Given the description of an element on the screen output the (x, y) to click on. 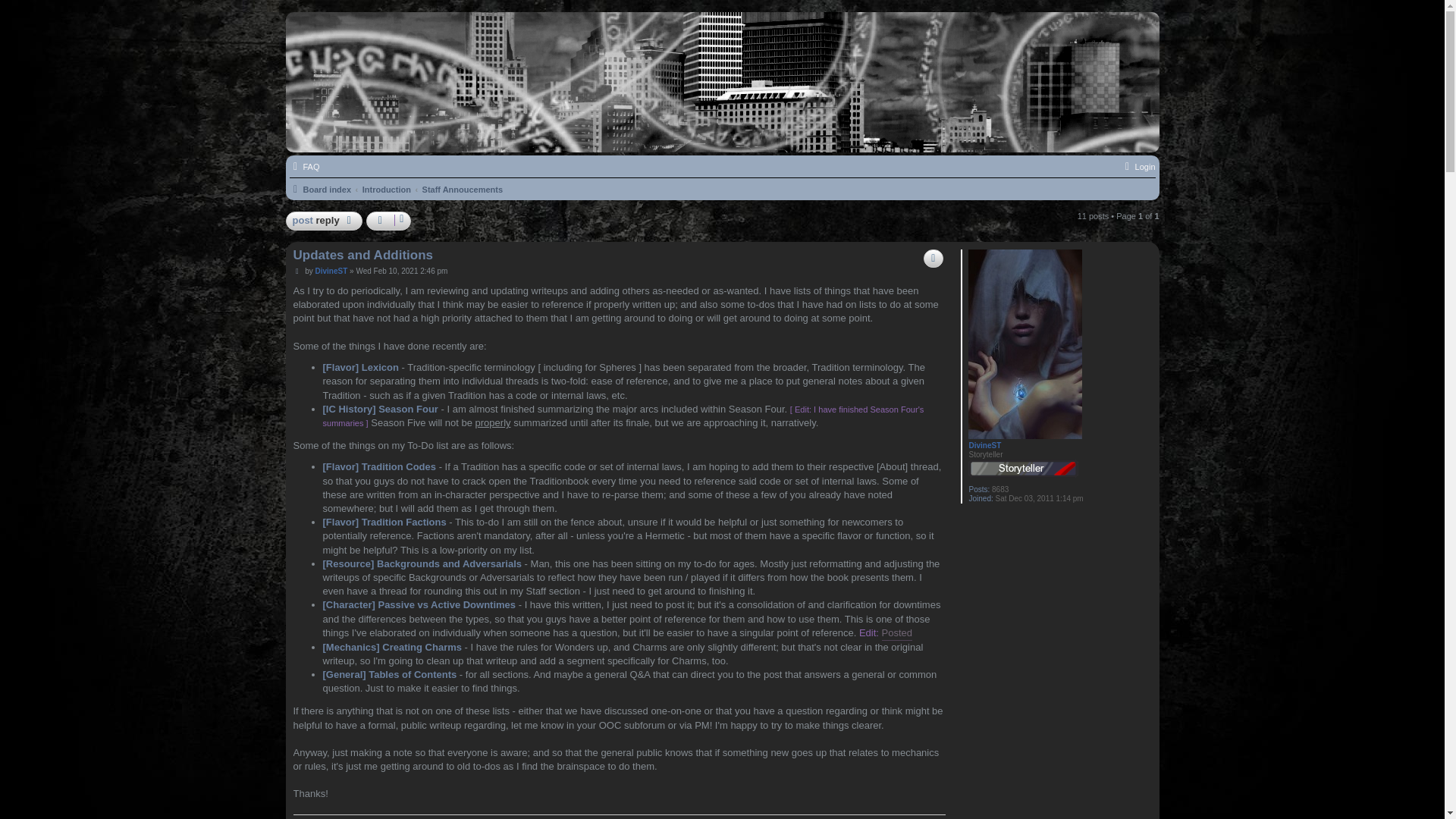
Updates and Additions (362, 254)
DivineST (330, 270)
Frequently Asked Questions (304, 167)
Introduction (386, 189)
Board index (320, 189)
Post a reply (323, 220)
Storyteller (1023, 468)
Post (297, 271)
Staff Annoucements (462, 189)
Post (297, 271)
Posted (897, 633)
Login (1138, 167)
quote (933, 258)
Board index (1072, 128)
Reply with quote (933, 258)
